Given the description of an element on the screen output the (x, y) to click on. 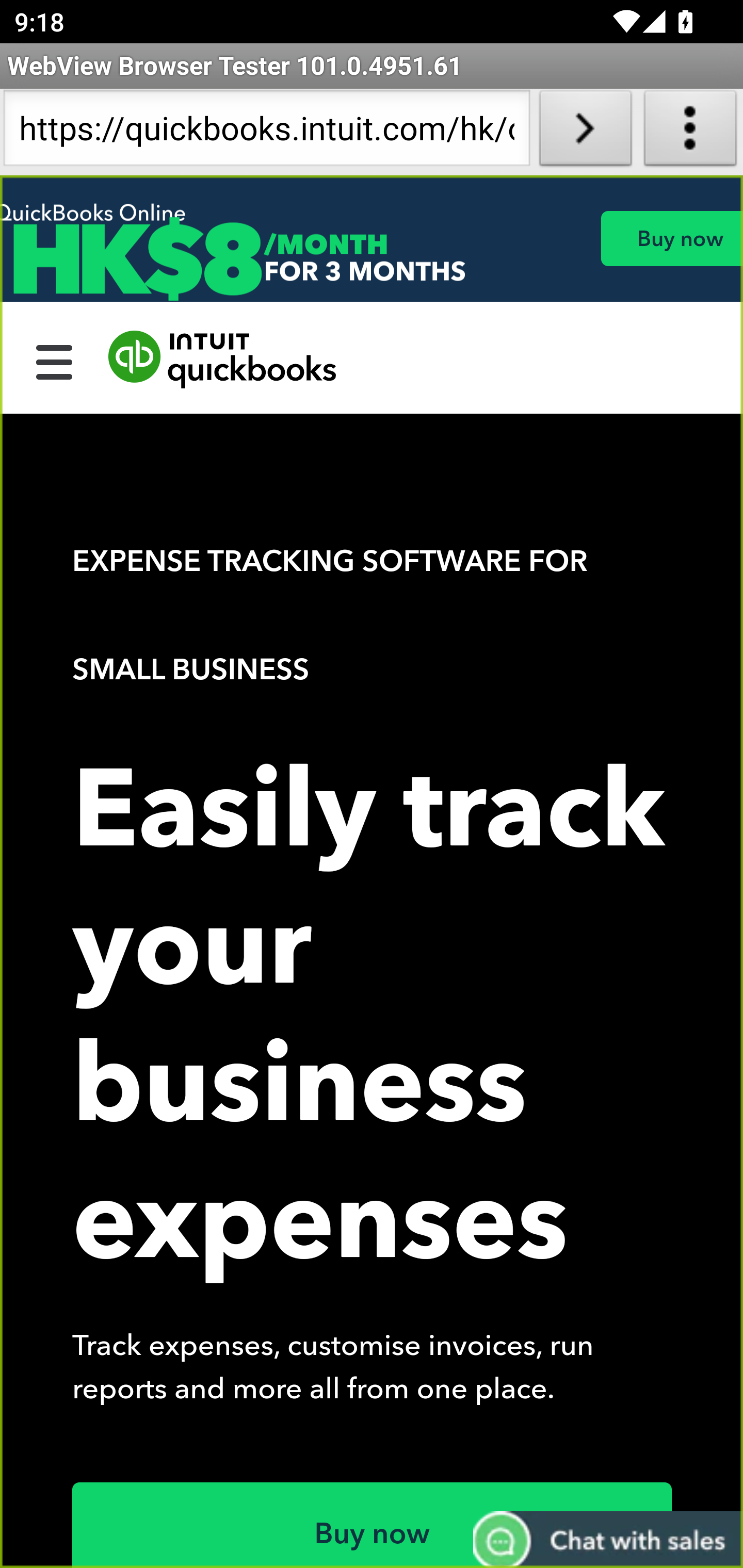
Load URL (585, 132)
About WebView (690, 132)
Buy now (671, 238)
quickbooks-mobile-burger (54, 359)
quickbooks (222, 359)
Buy now (372, 1524)
